Given the description of an element on the screen output the (x, y) to click on. 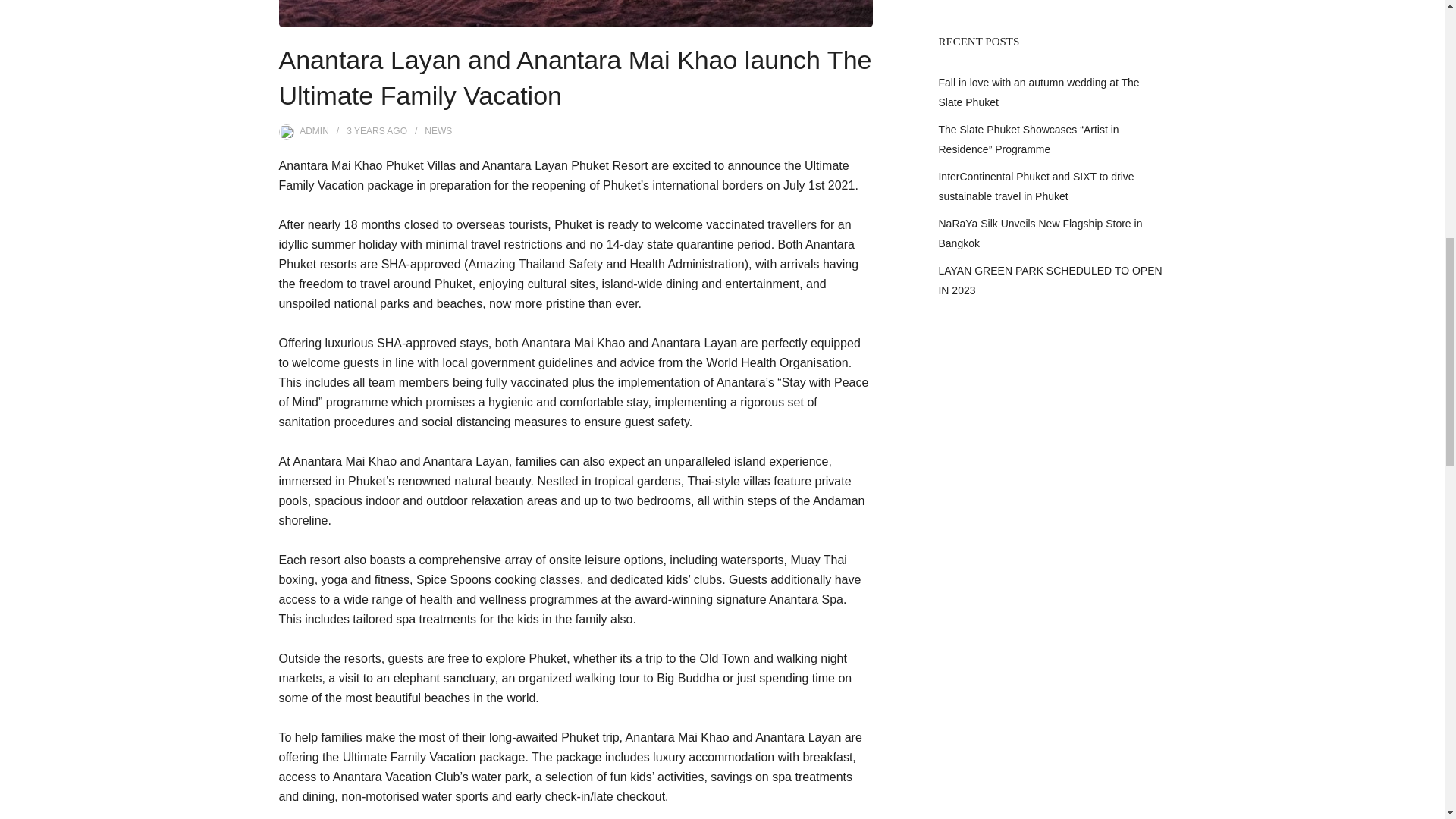
NEWS (438, 131)
ADMIN (314, 131)
3 YEARS (365, 131)
